Given the description of an element on the screen output the (x, y) to click on. 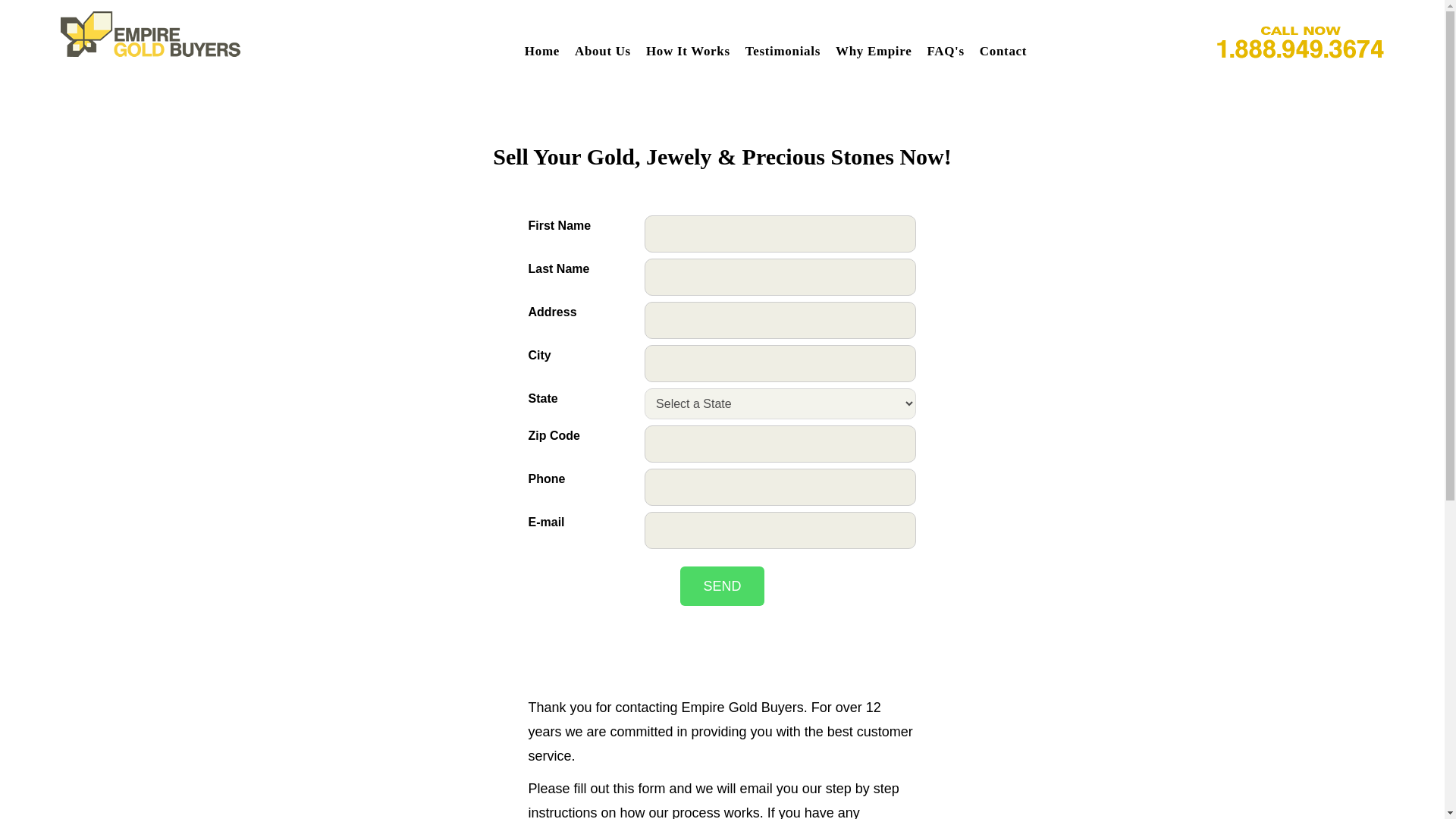
Empire Gold Buyers (150, 33)
Send (720, 586)
How It Works (688, 51)
Why Empire (873, 51)
Send (720, 586)
Contact (1002, 51)
About Us (602, 51)
Testimonials (783, 51)
